Given the description of an element on the screen output the (x, y) to click on. 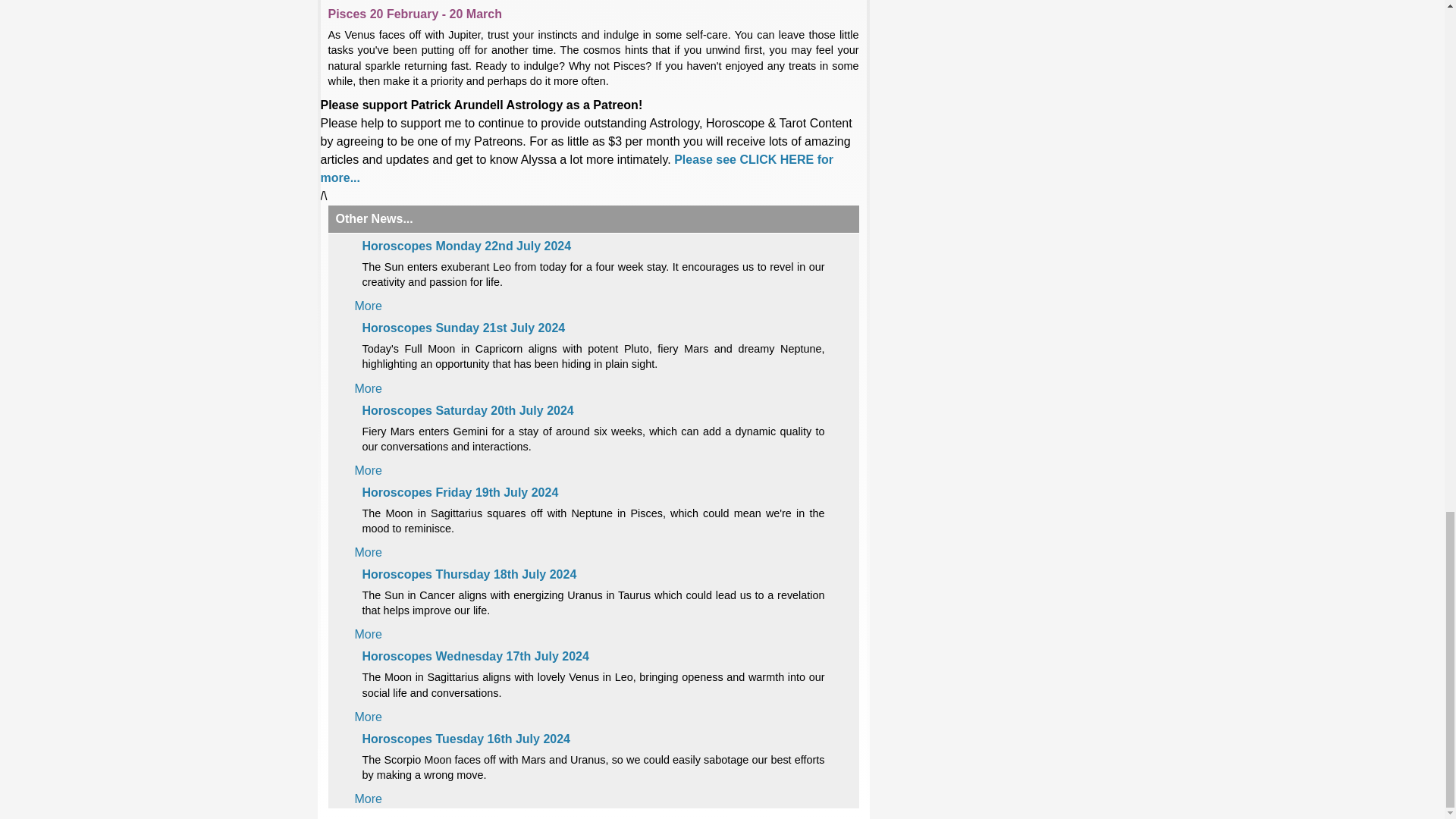
Horoscopes Friday 19th July 2024 (460, 492)
Horoscopes Sunday 21st July 2024 (464, 327)
Horoscopes Thursday 18th July 2024 (469, 574)
Horoscopes Monday 22nd July 2024 (467, 245)
Horoscopes Saturday 20th July 2024 (467, 410)
